Given the description of an element on the screen output the (x, y) to click on. 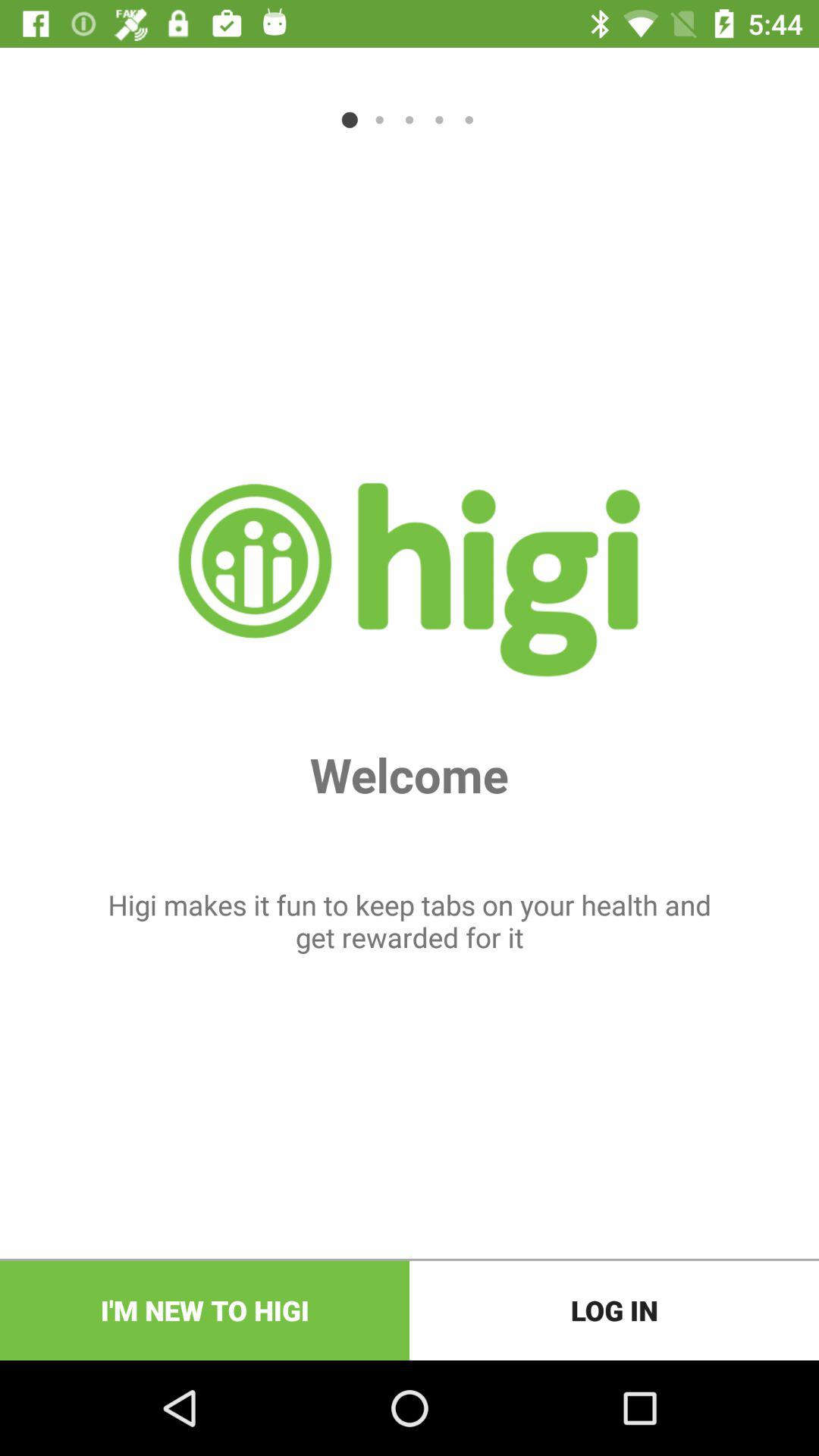
scroll until log in item (614, 1310)
